Given the description of an element on the screen output the (x, y) to click on. 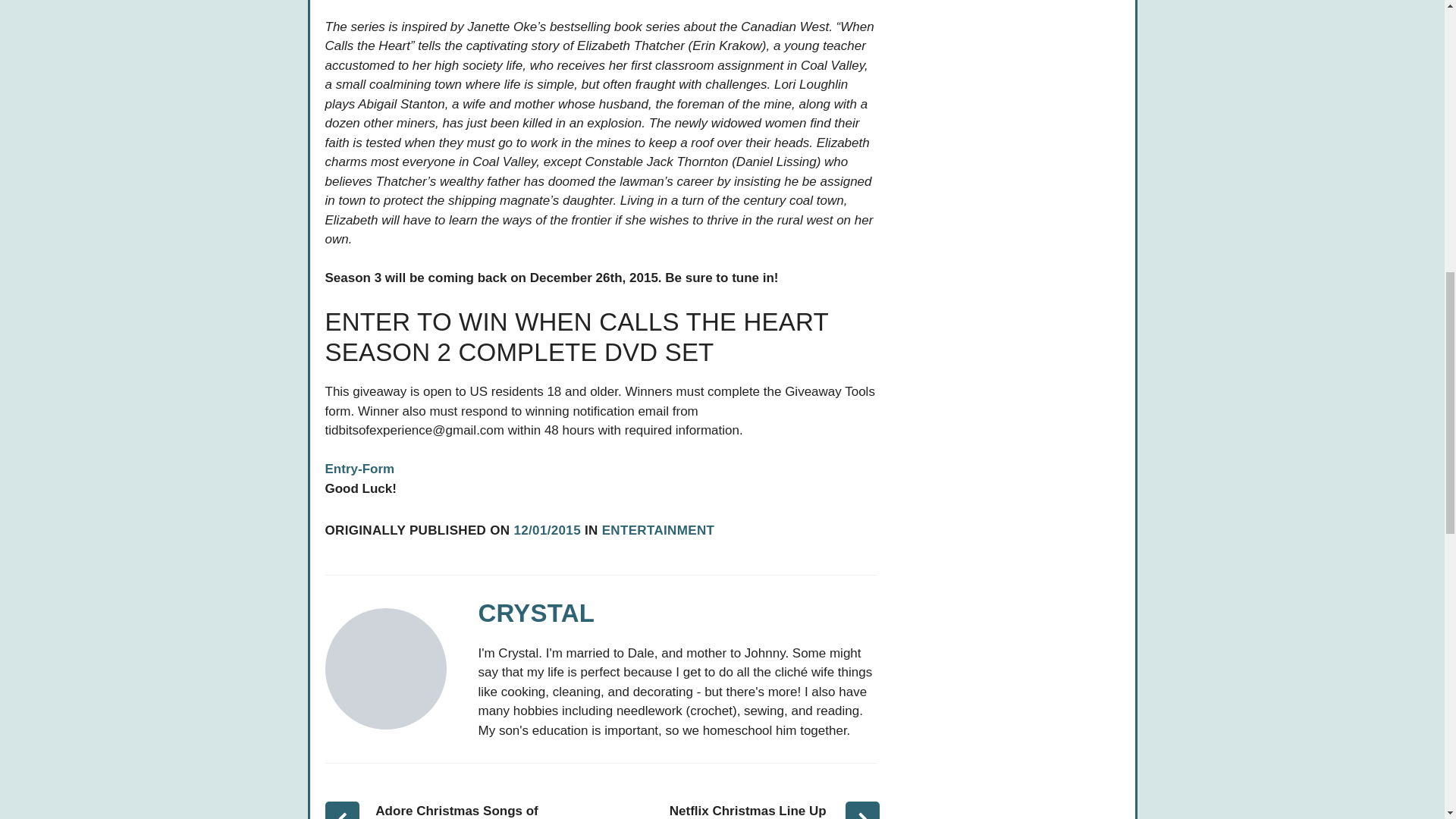
Scroll back to top (1406, 720)
